Given the description of an element on the screen output the (x, y) to click on. 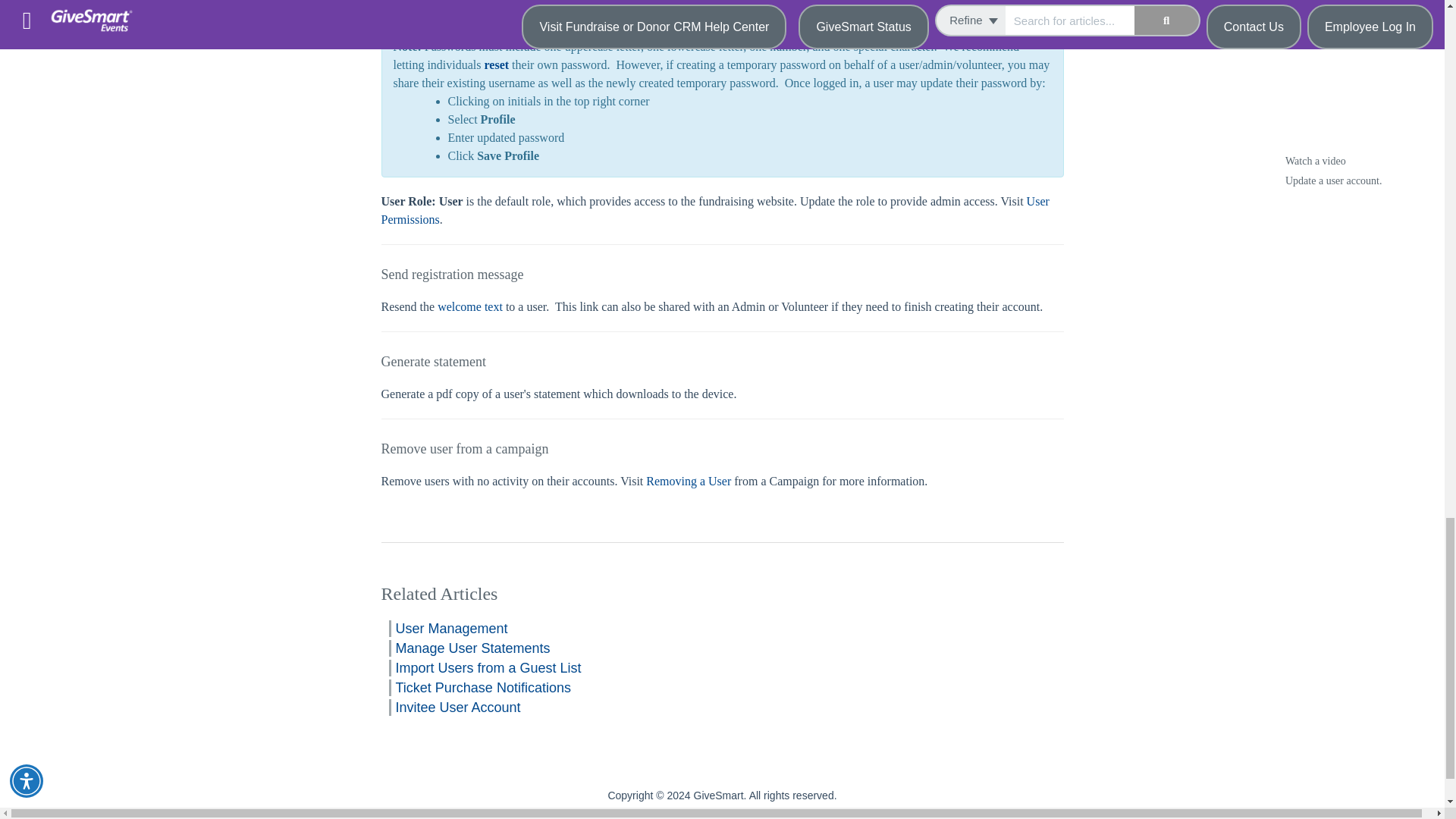
Reset your Username and Password (495, 64)
